Given the description of an element on the screen output the (x, y) to click on. 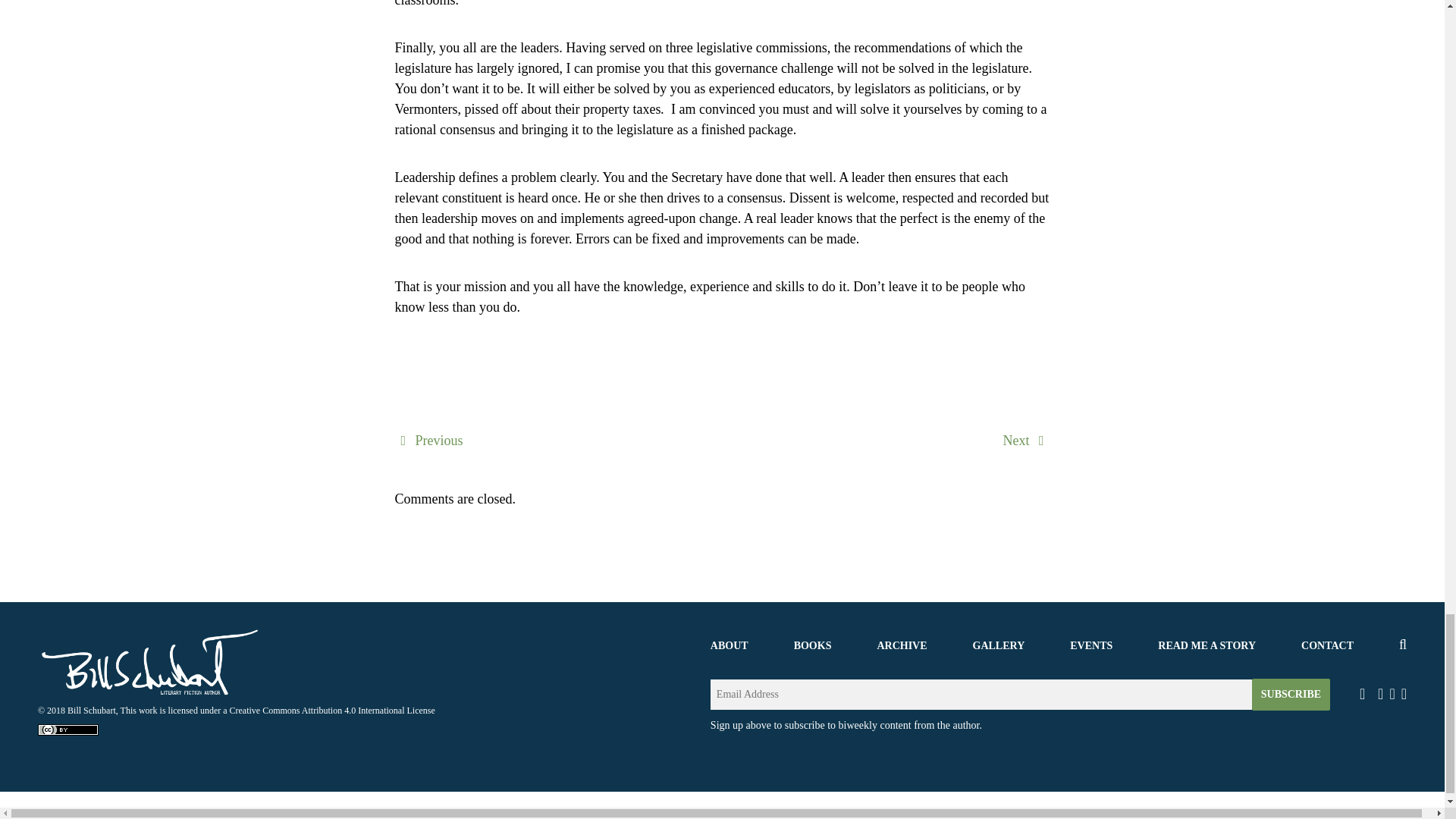
EVENTS (1091, 645)
SUBSCRIBE (1291, 694)
CONTACT (1327, 645)
BOOKS (812, 645)
Next (1026, 440)
Creative Commons Attribution 4.0 International License (332, 710)
ABOUT (729, 645)
Previous (428, 440)
READ ME A STORY (1206, 645)
ARCHIVE (901, 645)
GALLERY (998, 645)
